Given the description of an element on the screen output the (x, y) to click on. 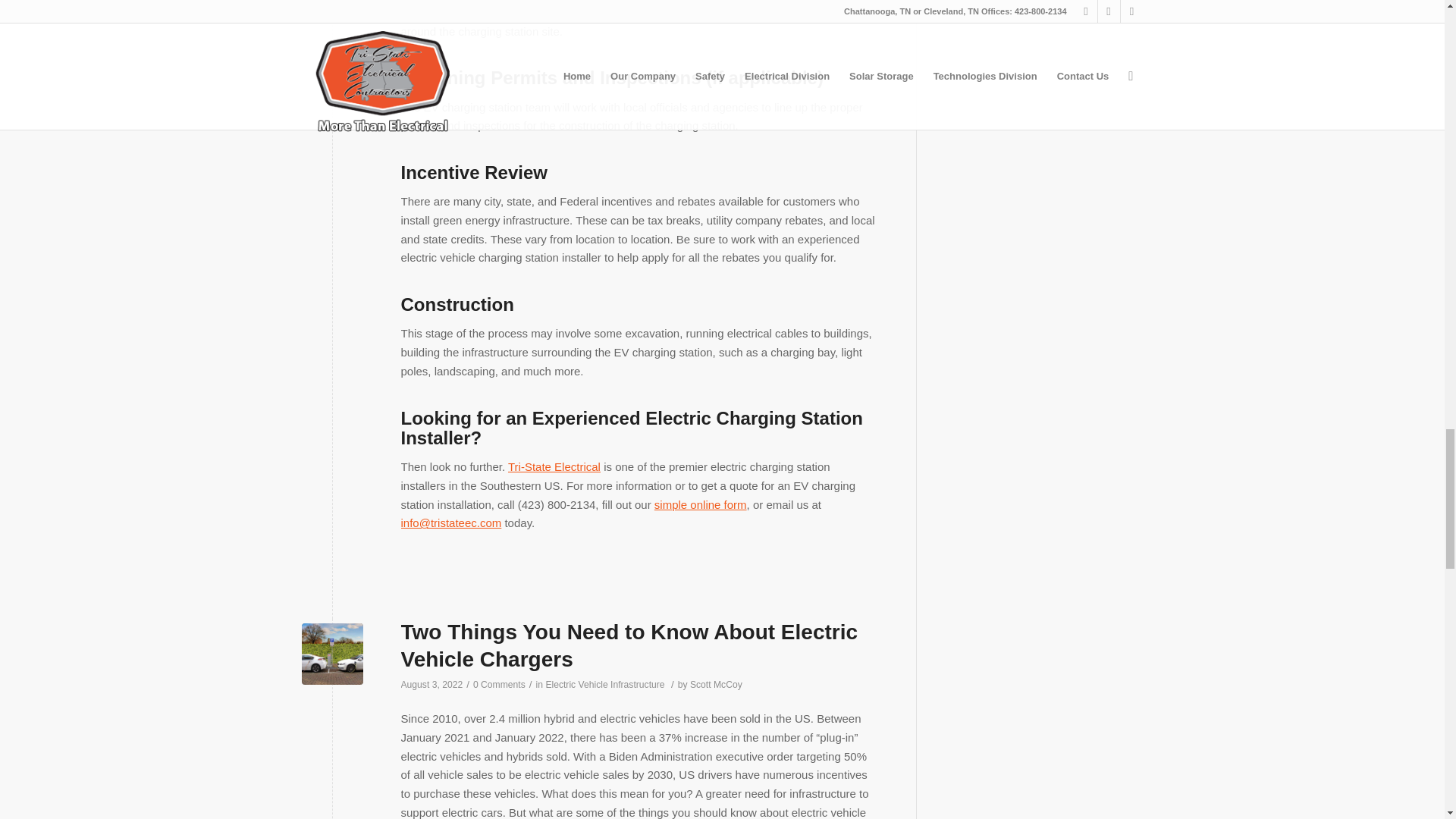
Posts by Scott McCoy (716, 684)
2022-07-electric-vehicle-charging-station-knoxville (331, 653)
